Given the description of an element on the screen output the (x, y) to click on. 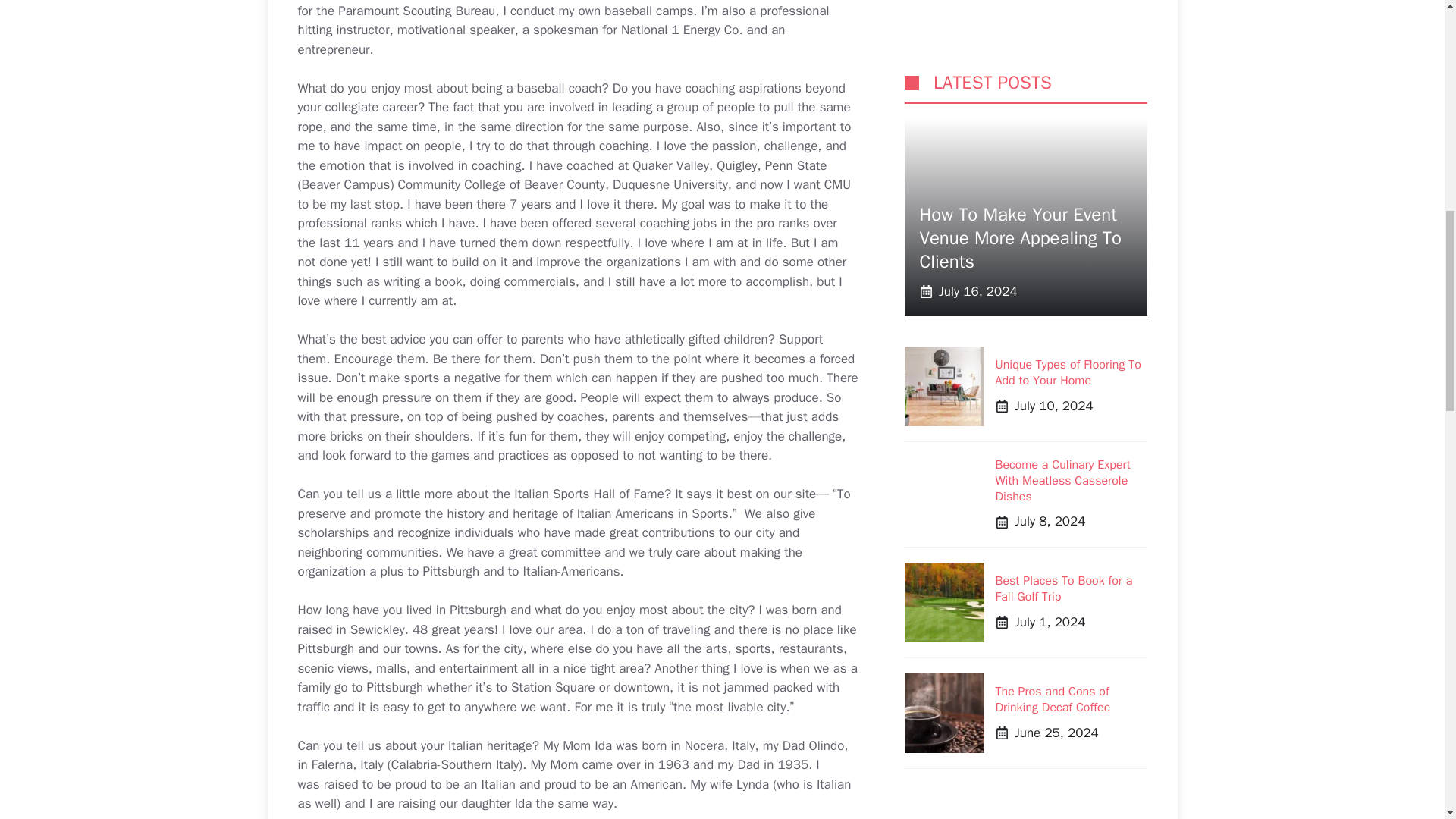
Scroll back to top (1406, 720)
Become a Culinary Expert With Meatless Casserole Dishes (1061, 23)
Best Places To Book for a Fall Golf Trip (1063, 132)
The Pros and Cons of Drinking Decaf Coffee (1051, 242)
